Given the description of an element on the screen output the (x, y) to click on. 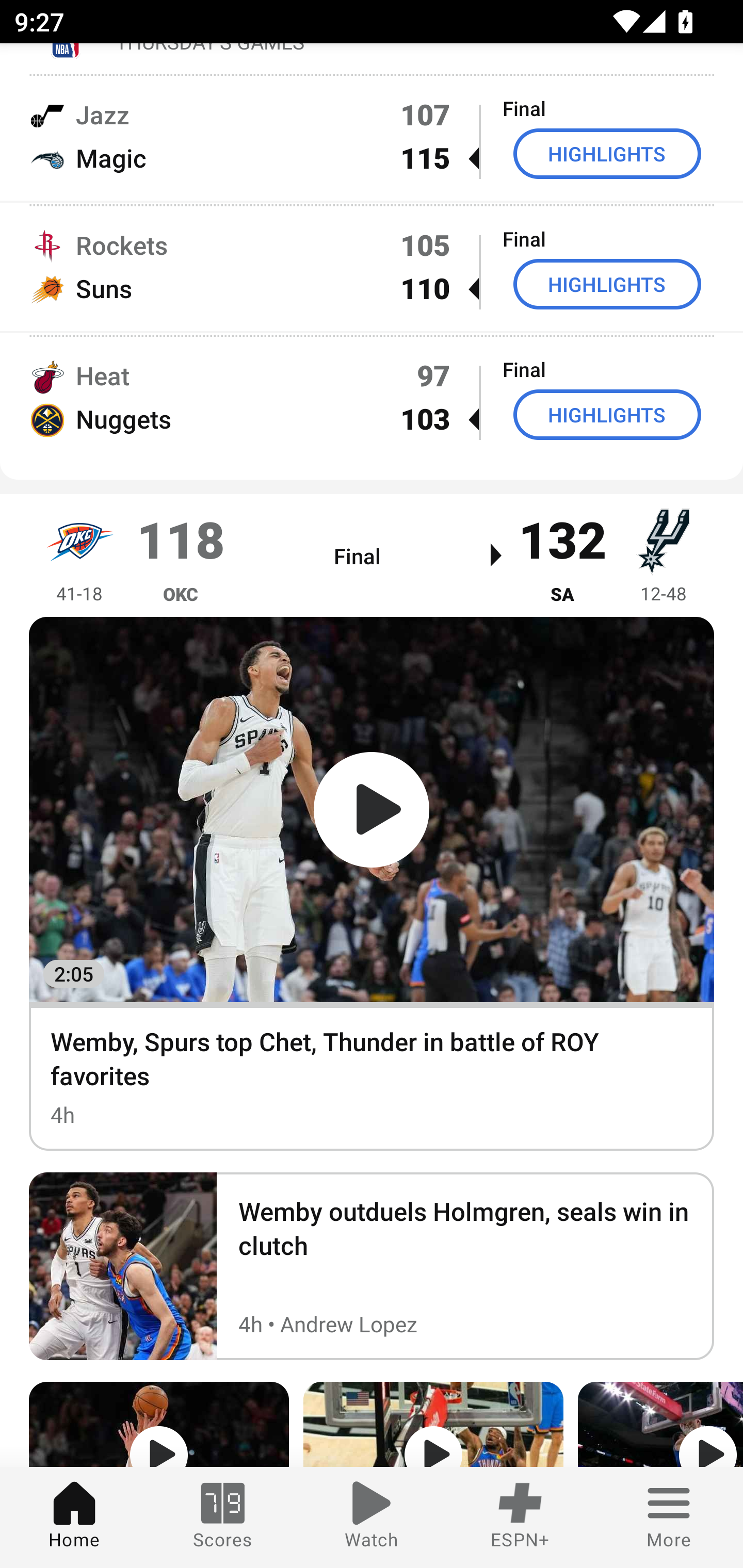
Jazz 107 Final Magic 115  HIGHLIGHTS (371, 136)
HIGHLIGHTS (607, 153)
Rockets 105 Final Suns 110  HIGHLIGHTS (371, 266)
HIGHLIGHTS (607, 283)
Heat 97 Final Nuggets 103  HIGHLIGHTS (371, 396)
HIGHLIGHTS (607, 414)
Scores (222, 1517)
Watch (371, 1517)
ESPN+ (519, 1517)
More (668, 1517)
